Given the description of an element on the screen output the (x, y) to click on. 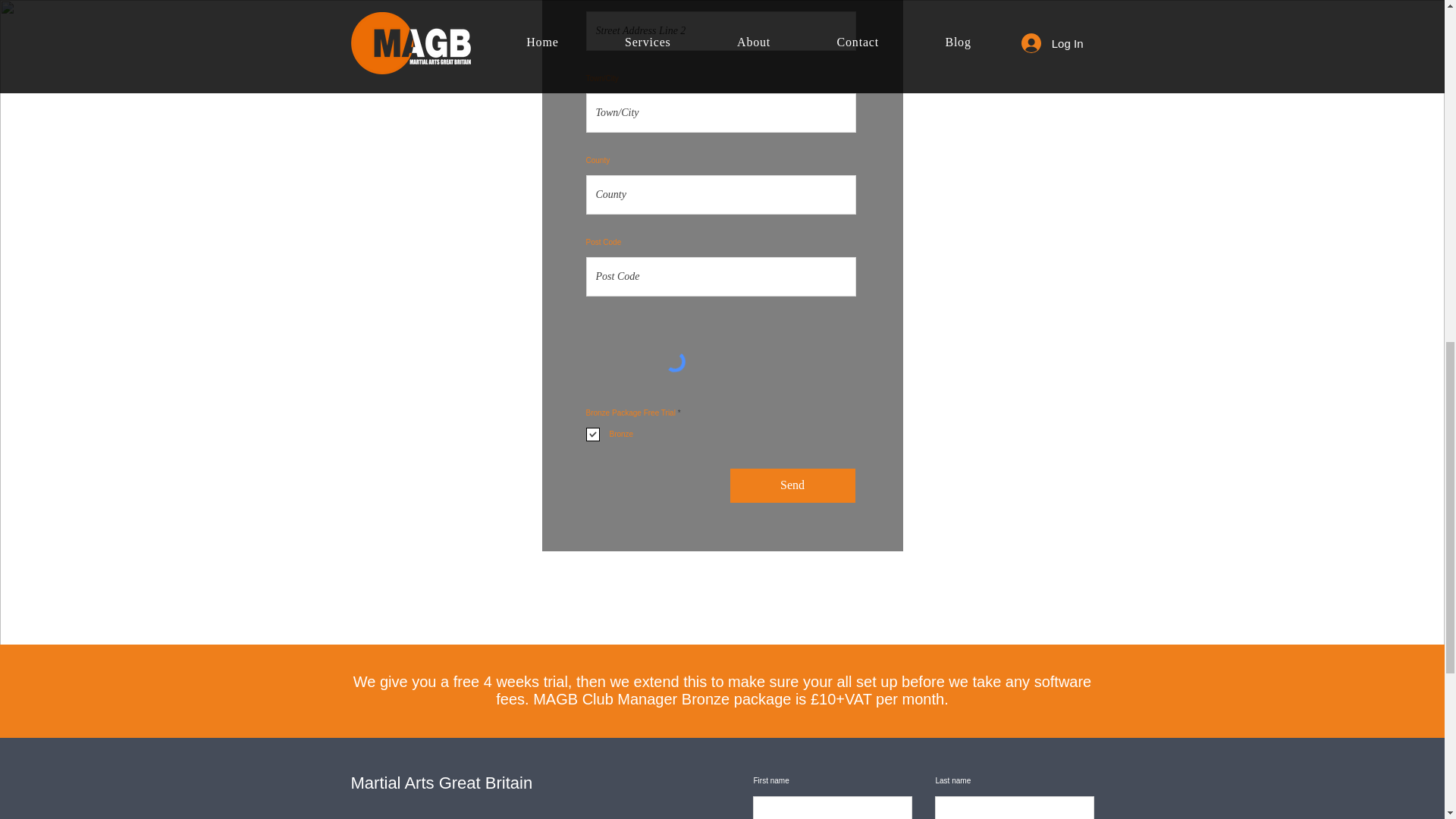
Send (791, 485)
